Given the description of an element on the screen output the (x, y) to click on. 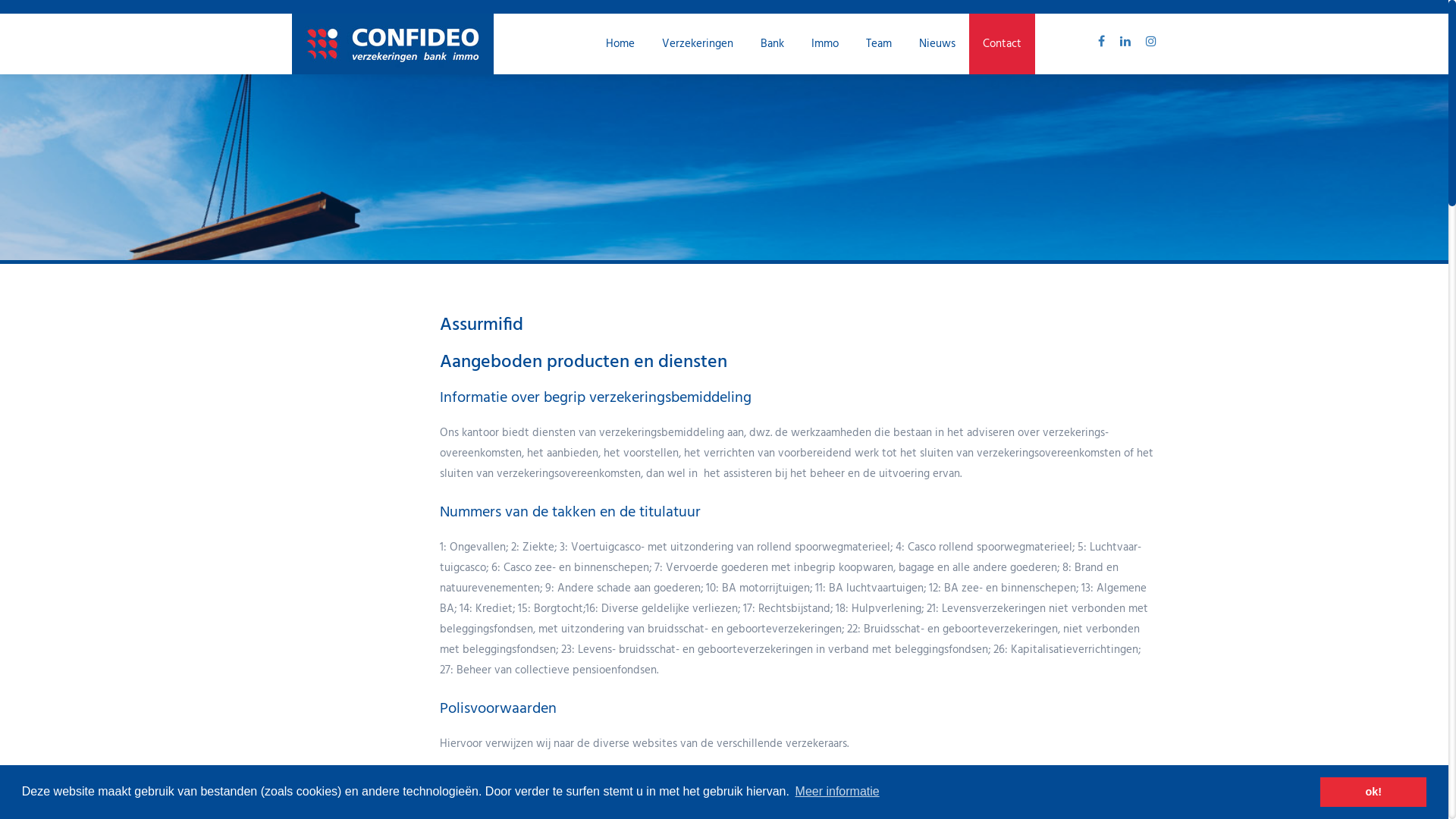
Team Element type: text (878, 43)
Immo Element type: text (824, 43)
Verzekeringen Element type: text (697, 43)
Contact Element type: text (1002, 43)
Home Element type: text (620, 43)
Nieuws Element type: text (937, 43)
Meer informatie Element type: text (836, 791)
Bank Element type: text (771, 43)
ok! Element type: text (1373, 791)
